Given the description of an element on the screen output the (x, y) to click on. 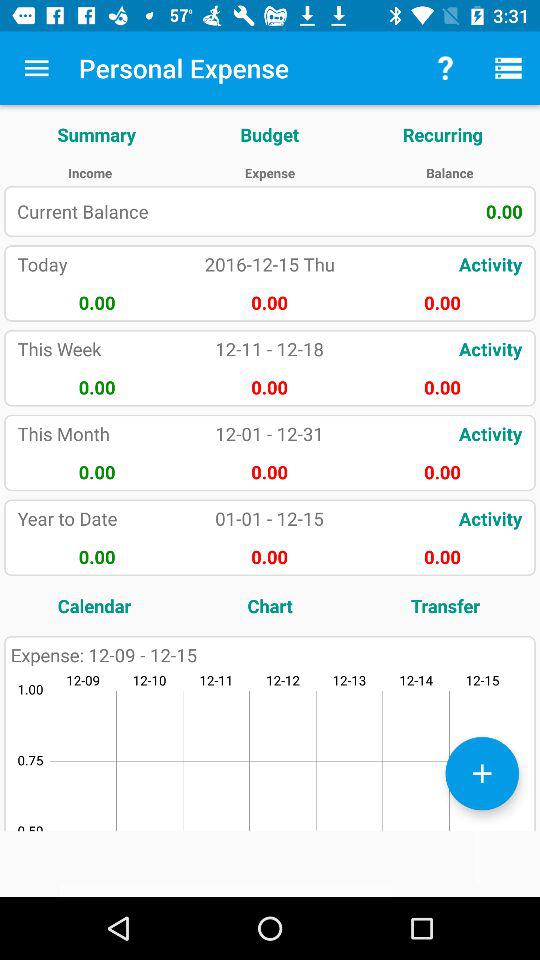
click the icon to the right of budget (442, 134)
